Given the description of an element on the screen output the (x, y) to click on. 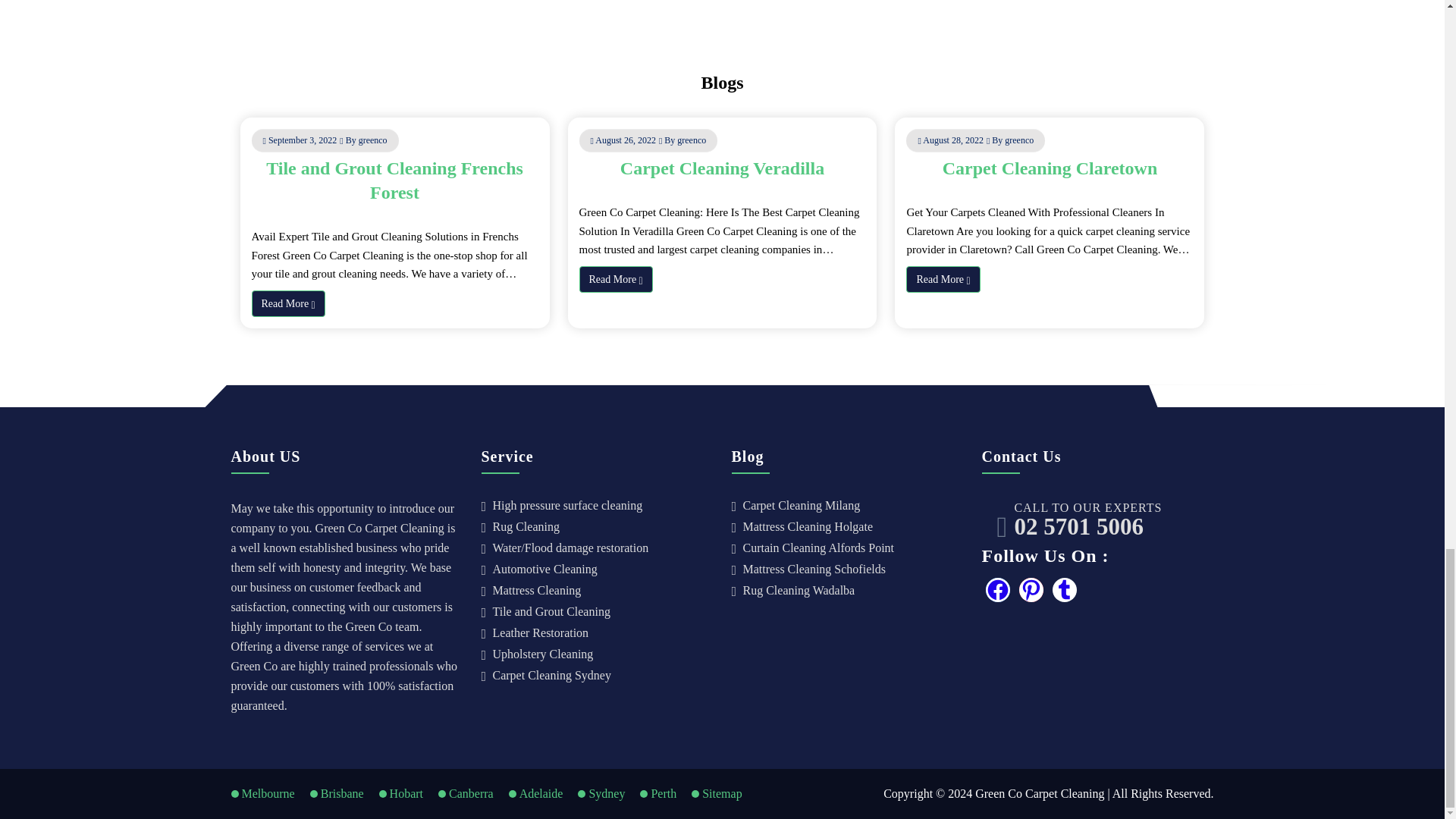
Tile and Grout Cleaning Frenchs Forest (394, 180)
Read More (287, 303)
Carpet Cleaning Veradilla (722, 168)
Carpet Cleaning Veradilla (722, 168)
Tile and Grout Cleaning Frenchs Forest (394, 180)
Carpet Cleaning Claretown (1049, 168)
